Given the description of an element on the screen output the (x, y) to click on. 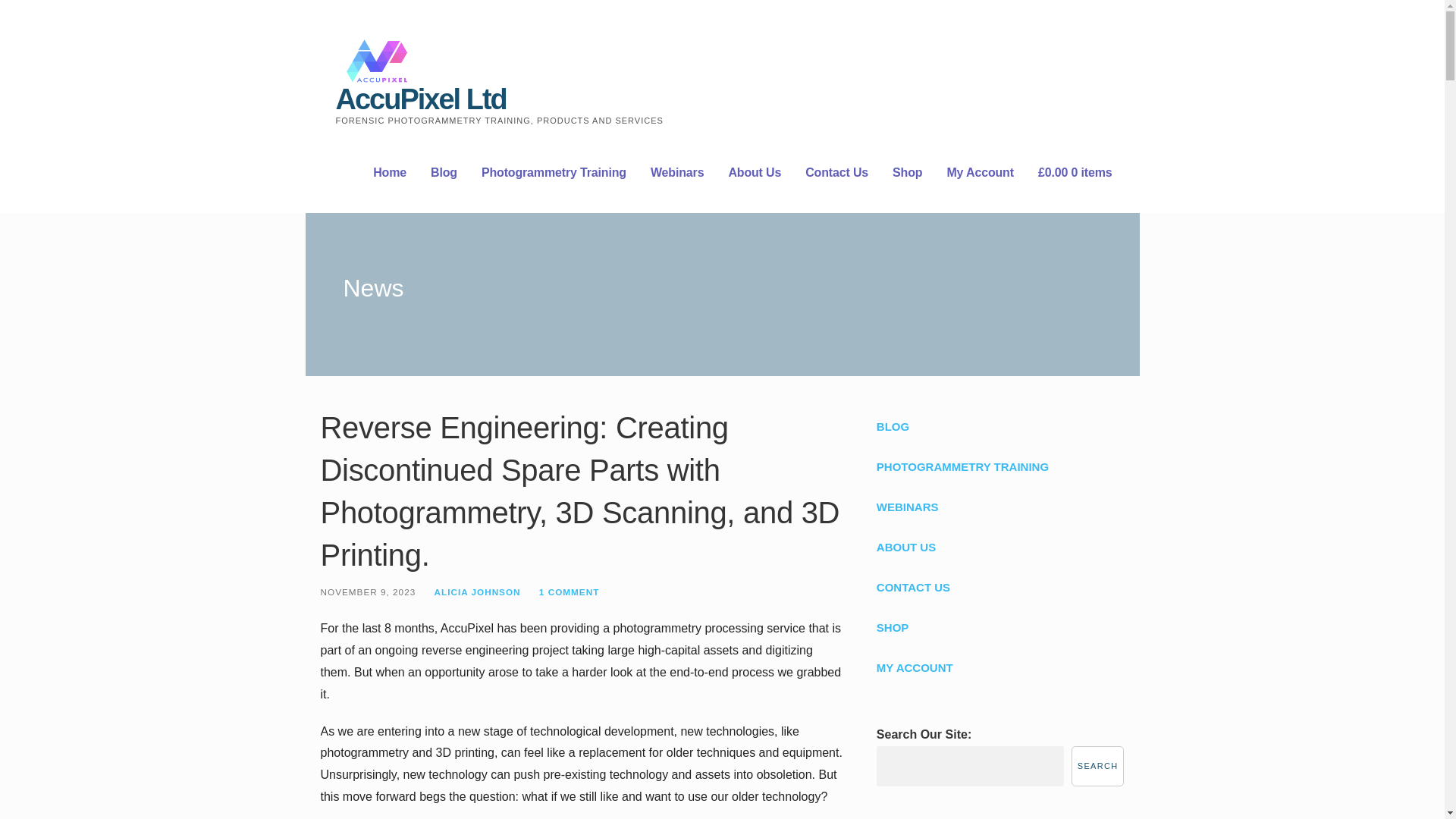
Shop (906, 173)
ABOUT US (1000, 547)
PHOTOGRAMMETRY TRAINING (1000, 466)
BLOG (1000, 426)
WEBINARS (1000, 506)
ALICIA JOHNSON (476, 592)
Contact Us (836, 173)
About Us (754, 173)
My Account (979, 173)
SEARCH (1097, 766)
